Given the description of an element on the screen output the (x, y) to click on. 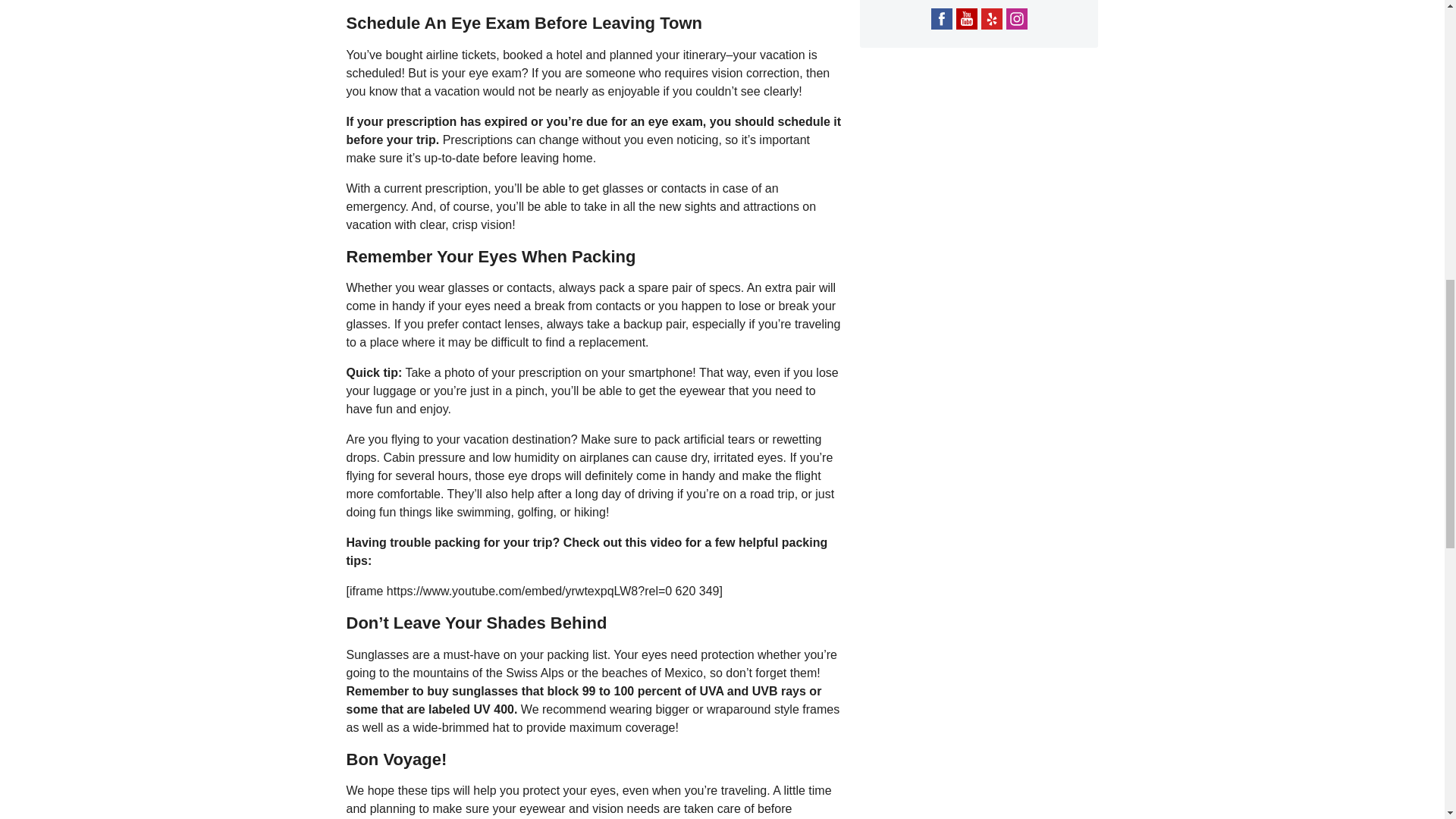
Go to our Instagram Page (1016, 18)
Watch us on YouTube (966, 18)
Go to our Facebook Page (941, 18)
Go to our Yelp Page (992, 18)
